Given the description of an element on the screen output the (x, y) to click on. 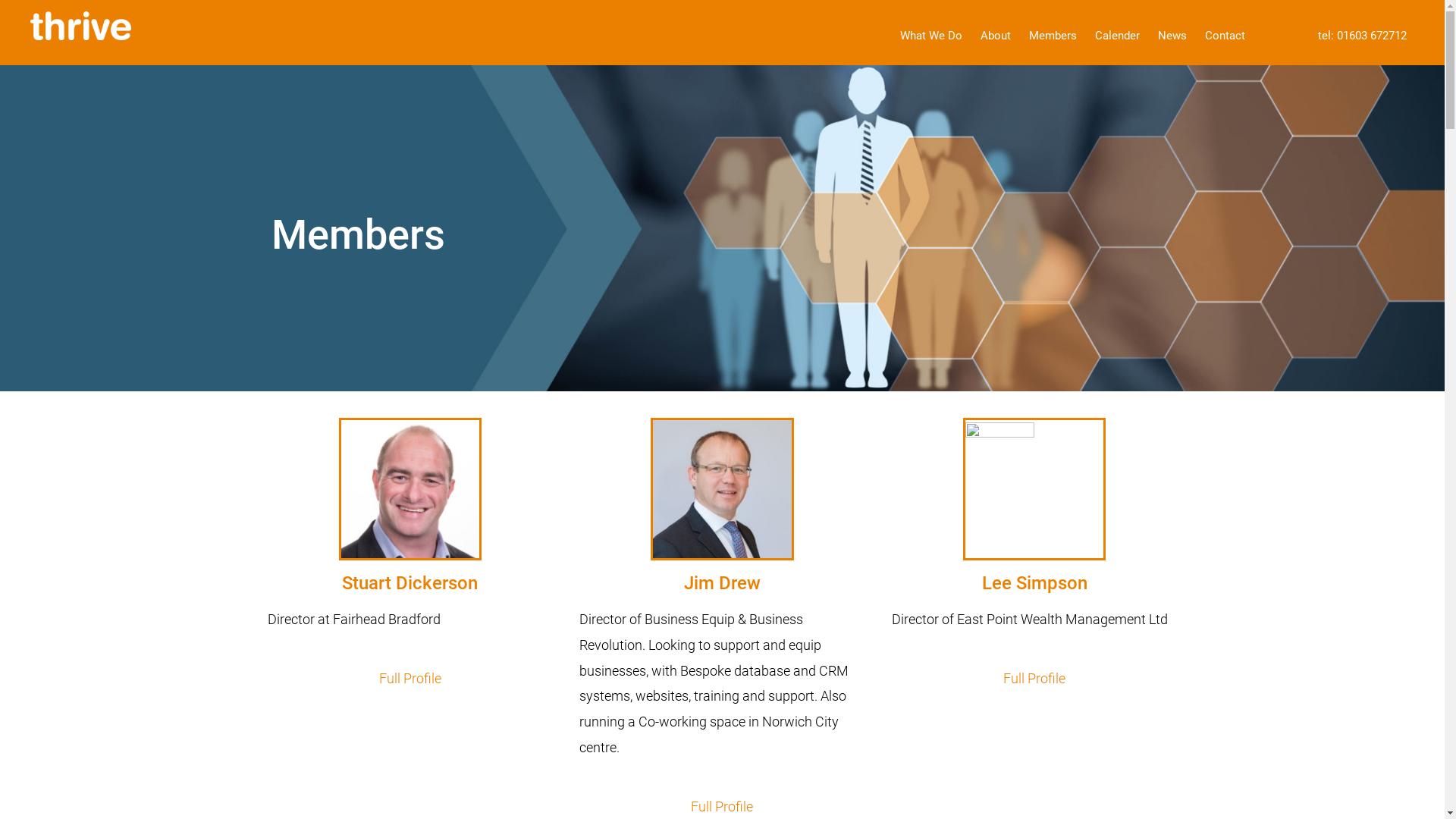
tel: 01603 672712 Element type: text (1362, 35)
Intellectual Property and Acceptable Use Element type: text (757, 764)
Business Equip Element type: text (680, 783)
News Element type: text (1172, 35)
Stuart Dickerson Element type: text (409, 582)
Members Element type: text (1052, 35)
Skip to primary navigation Element type: text (0, 0)
Privacy Policy Element type: text (538, 764)
Full Profile Element type: text (1034, 678)
Full Profile Element type: text (721, 806)
Steve Jenkins Graphic Design Element type: text (857, 783)
Log in Element type: text (940, 783)
Website Terms of Use Element type: text (622, 764)
Terms and Conditions Element type: text (891, 764)
Jim Drew Element type: text (722, 582)
Calender Element type: text (1117, 35)
Full Profile Element type: text (410, 678)
About Element type: text (995, 35)
What We Do Element type: text (930, 35)
Contact Element type: text (1224, 35)
Lee Simpson Element type: text (1034, 582)
